Given the description of an element on the screen output the (x, y) to click on. 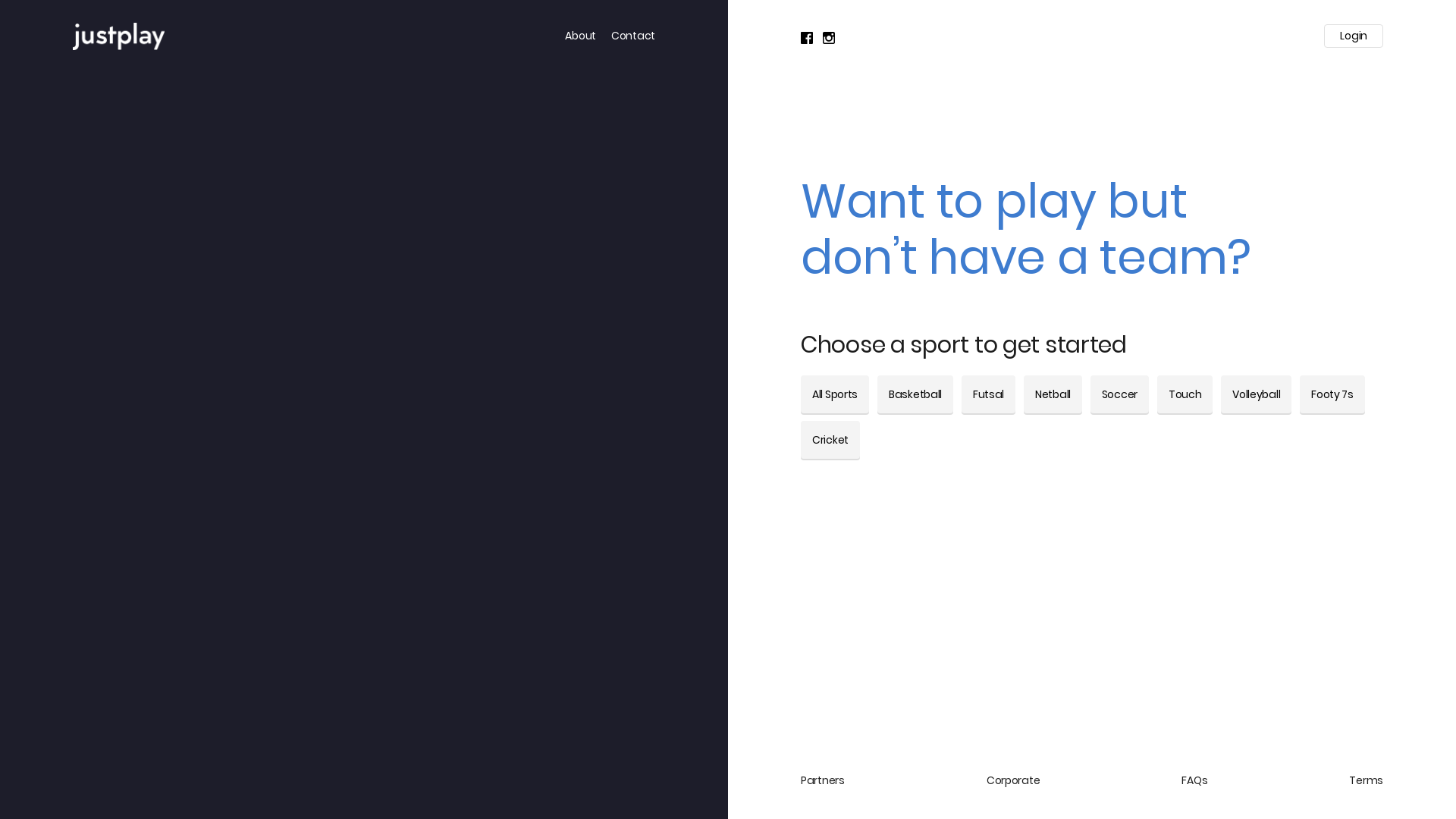
About Element type: text (580, 35)
Partners Element type: text (822, 780)
Futsal Element type: text (988, 394)
Soccer Element type: text (1119, 394)
FAQs Element type: text (1194, 780)
Netball Element type: text (1052, 394)
Contact Element type: text (633, 35)
Login Element type: text (1353, 36)
Touch Element type: text (1185, 394)
Footy 7s Element type: text (1332, 394)
Terms Element type: text (1366, 780)
Basketball Element type: text (915, 394)
Cricket Element type: text (829, 439)
Corporate Element type: text (1012, 780)
All Sports Element type: text (834, 394)
Volleyball Element type: text (1255, 394)
